Given the description of an element on the screen output the (x, y) to click on. 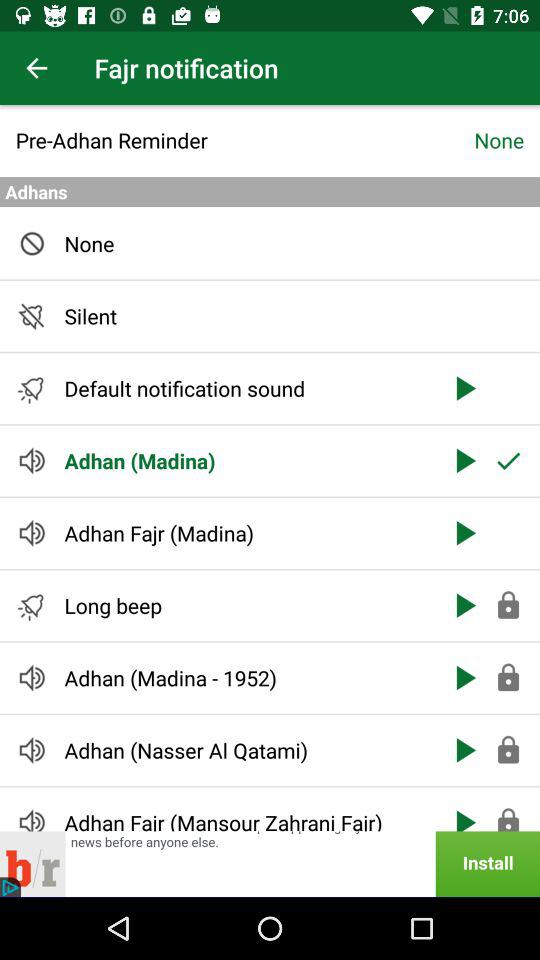
choose the pre-adhan reminder item (244, 139)
